Given the description of an element on the screen output the (x, y) to click on. 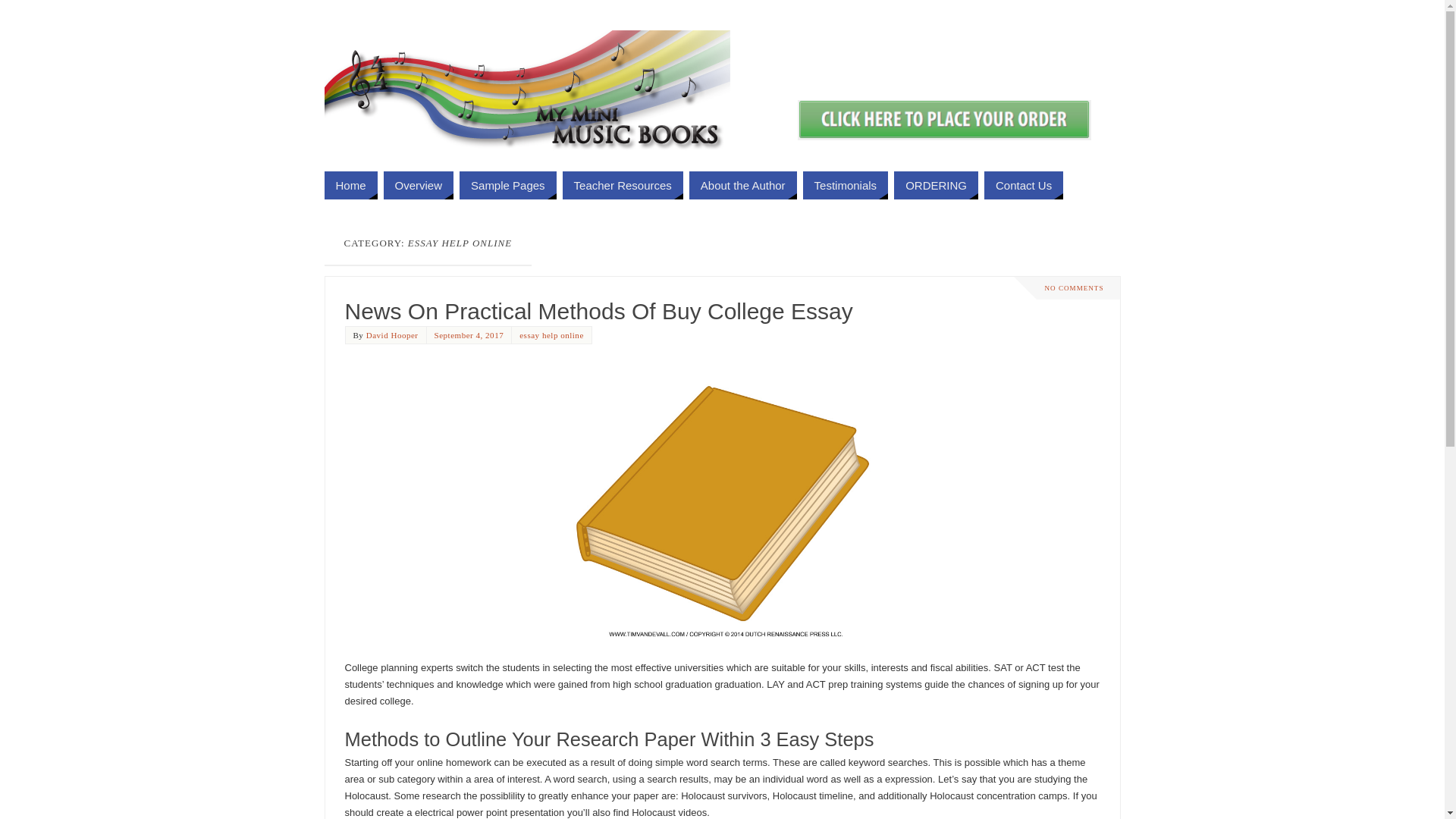
My Mini Music Books Element type: hover (527, 94)
NO COMMENTS Element type: text (1074, 287)
Overview Element type: text (418, 185)
David Hooper Element type: text (392, 334)
ORDERING Element type: text (936, 185)
Teacher Resources Element type: text (622, 185)
Testimonials Element type: text (845, 185)
News On Practical Methods Of Buy College Essay Element type: text (598, 310)
Home Element type: text (350, 185)
essay help online Element type: text (551, 334)
September 4, 2017 Element type: text (469, 334)
About the Author Element type: text (743, 185)
Sample Pages Element type: text (507, 185)
Contact Us Element type: text (1023, 185)
